Given the description of an element on the screen output the (x, y) to click on. 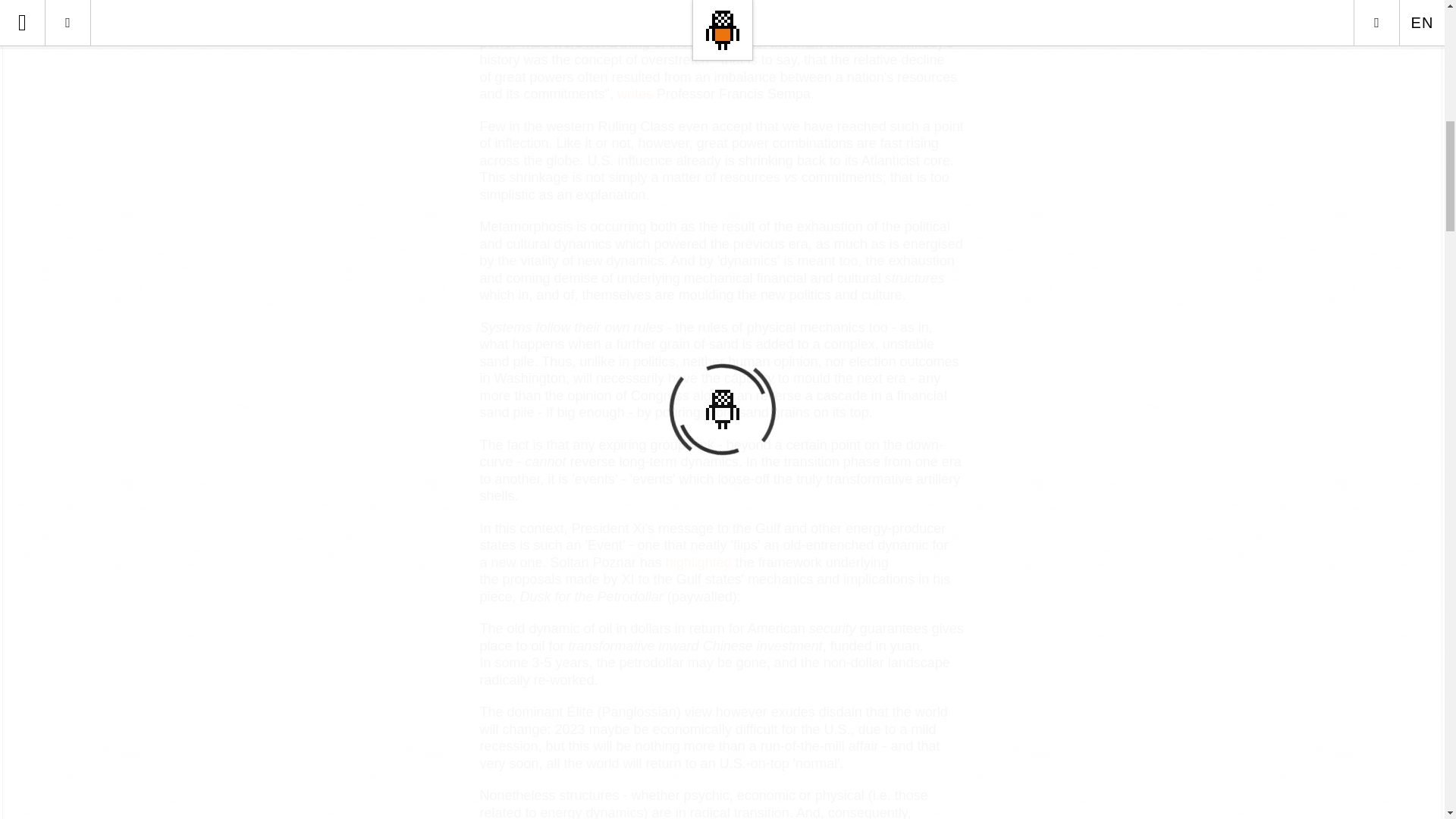
writes (634, 93)
highlighted (698, 562)
